Given the description of an element on the screen output the (x, y) to click on. 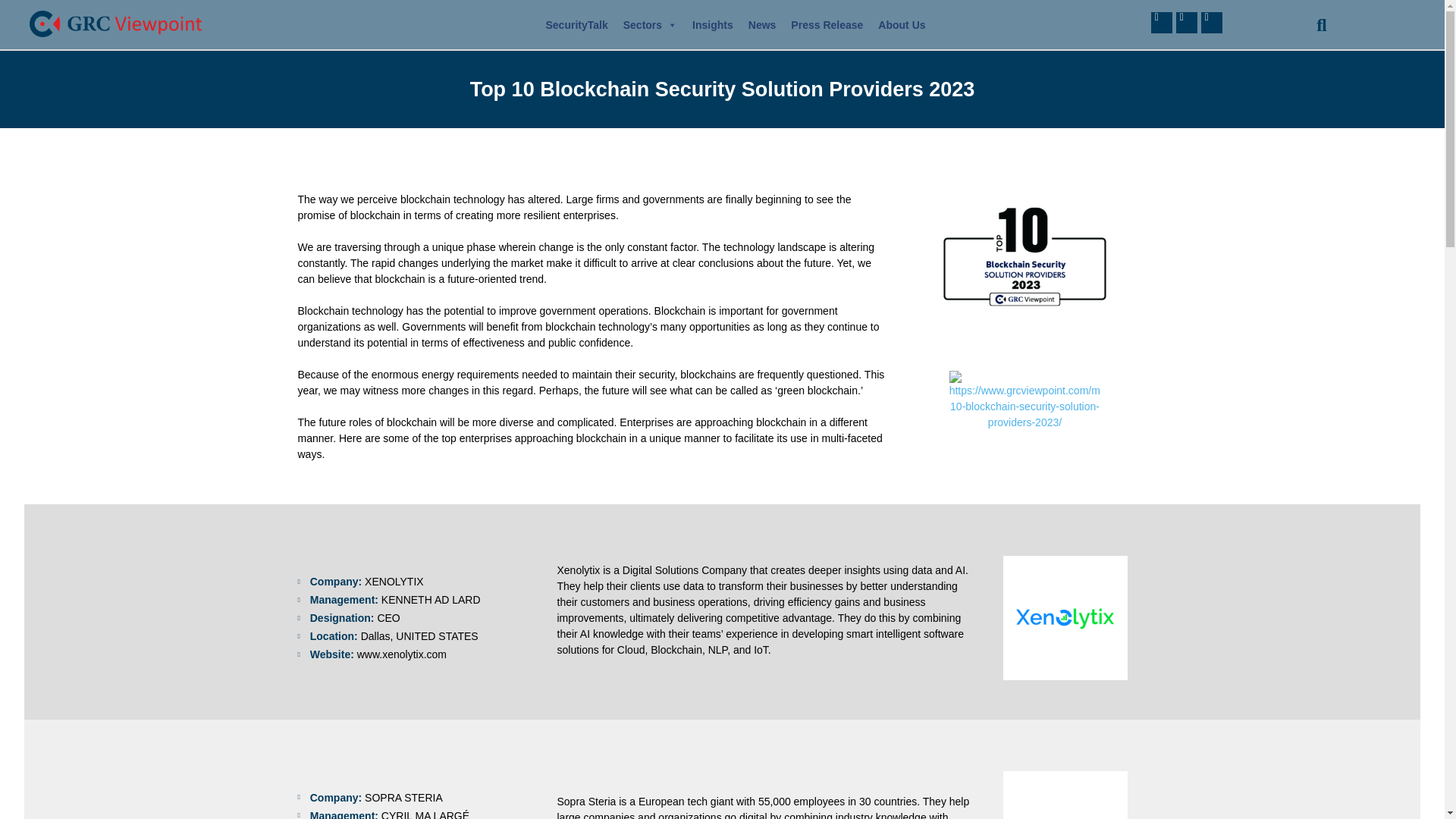
SecurityTalk (576, 24)
top-10-blockchain-security-solution-providers-2023-1-1 (1024, 400)
Sectors (649, 24)
